Given the description of an element on the screen output the (x, y) to click on. 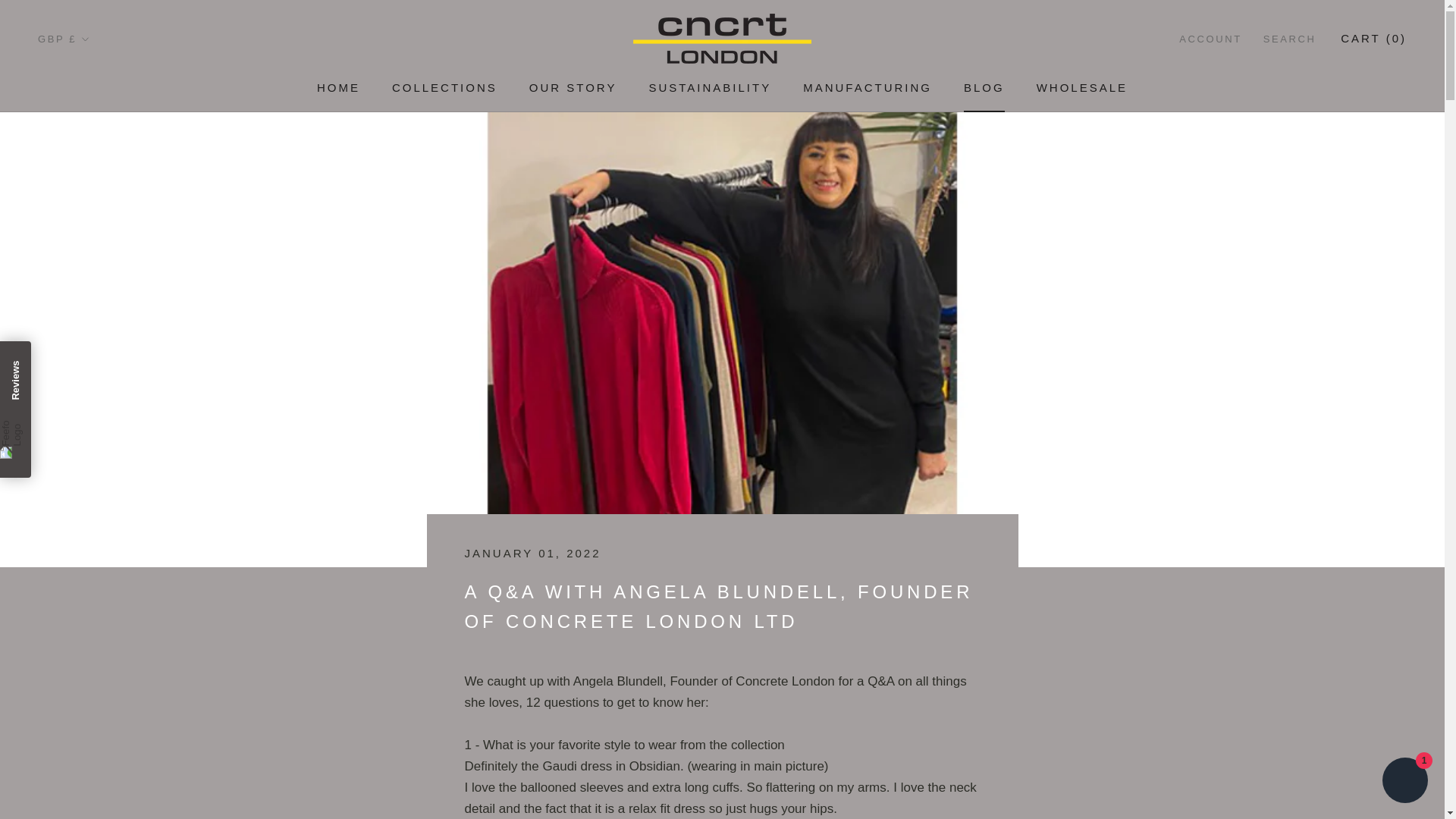
USD (88, 265)
BGN (867, 87)
HUF (88, 74)
PLN (338, 87)
DKK (88, 169)
Shopify online store chat (709, 87)
RON (88, 193)
SEK (444, 87)
EUR (88, 97)
